Given the description of an element on the screen output the (x, y) to click on. 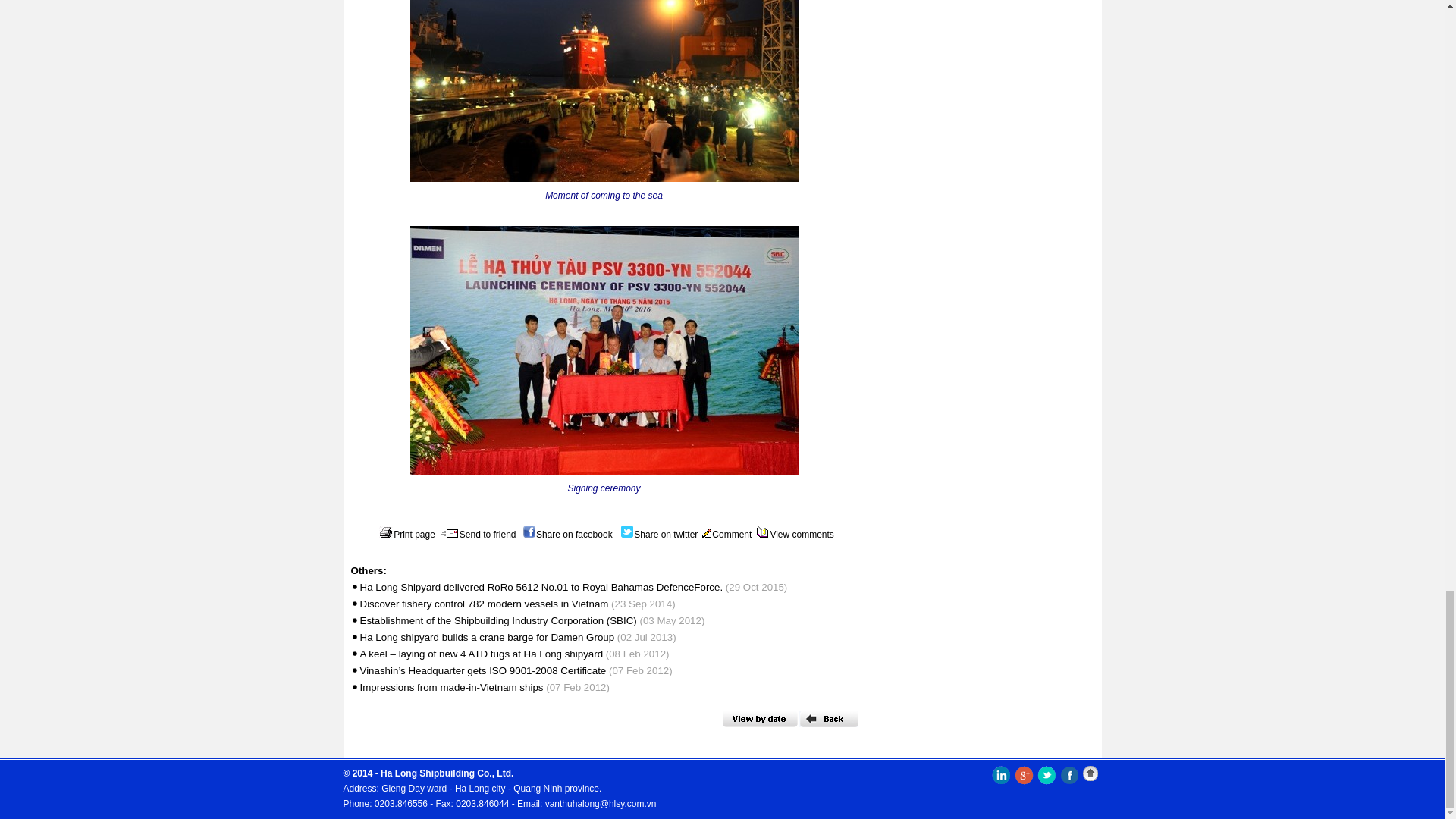
Click here to selected (759, 718)
Share on twitter (657, 534)
Discover fishery control 782 modern vessels in Vietnam (483, 603)
Print page (405, 534)
Share on facebook (565, 534)
Print page (405, 534)
